Given the description of an element on the screen output the (x, y) to click on. 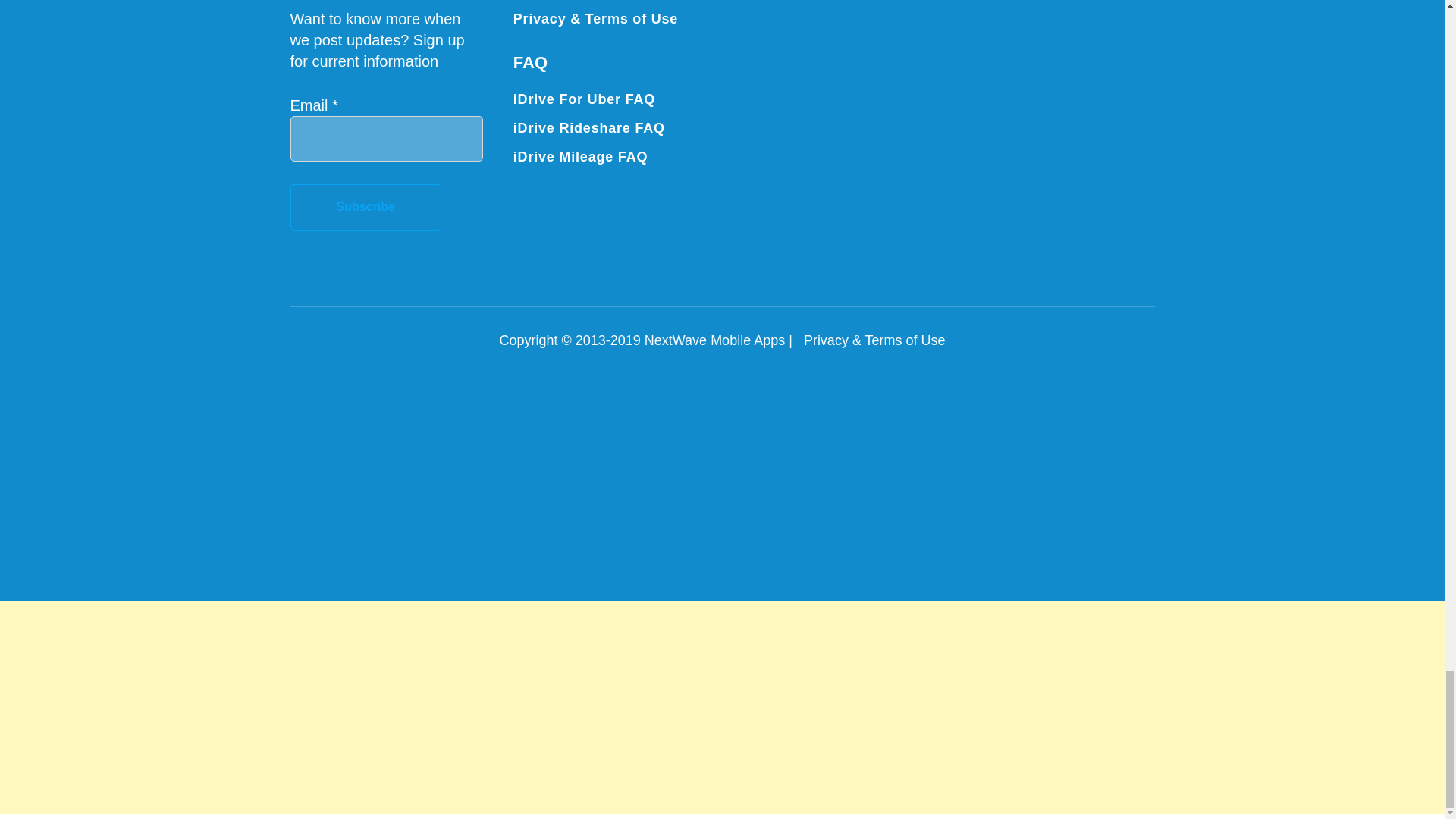
Subscribe (365, 207)
